Given the description of an element on the screen output the (x, y) to click on. 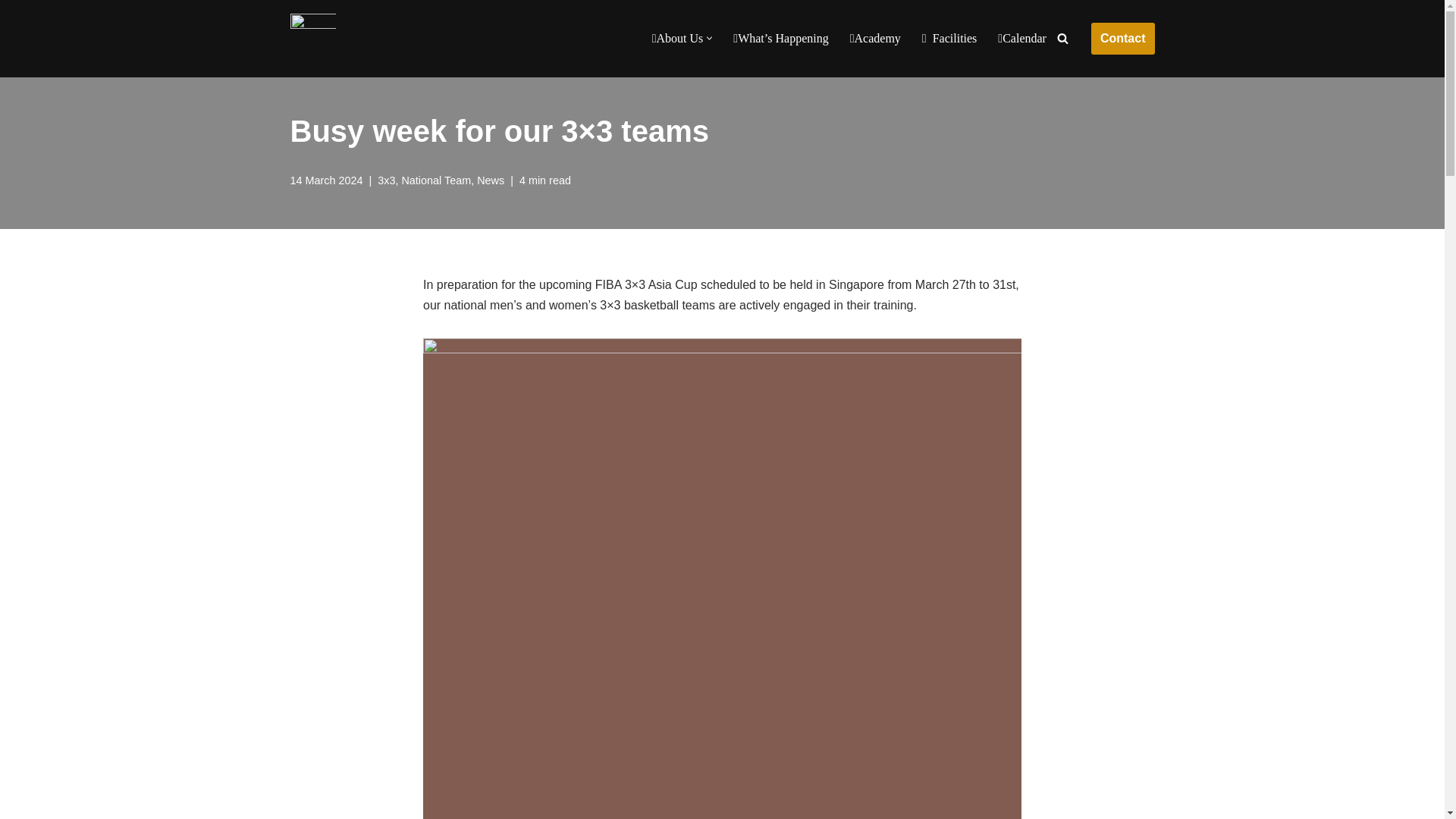
Academy (875, 37)
News (490, 180)
  Facilities (948, 37)
Skip to content (11, 31)
3x3 (385, 180)
Calendar (1021, 37)
Contact (1122, 38)
National Team (435, 180)
About Us (677, 37)
